Given the description of an element on the screen output the (x, y) to click on. 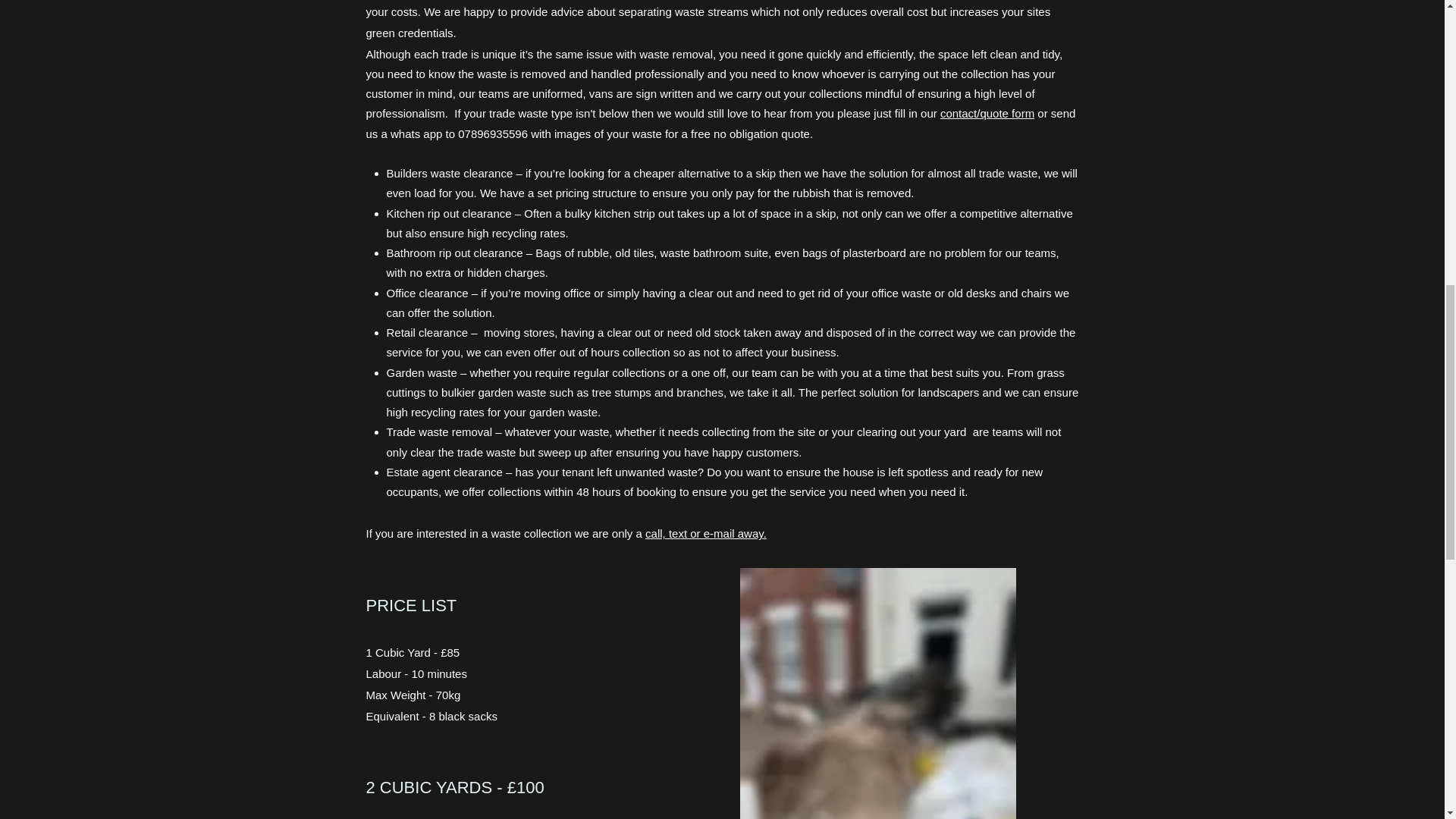
call, text or e-mail away. (706, 533)
builders waste (877, 693)
